Given the description of an element on the screen output the (x, y) to click on. 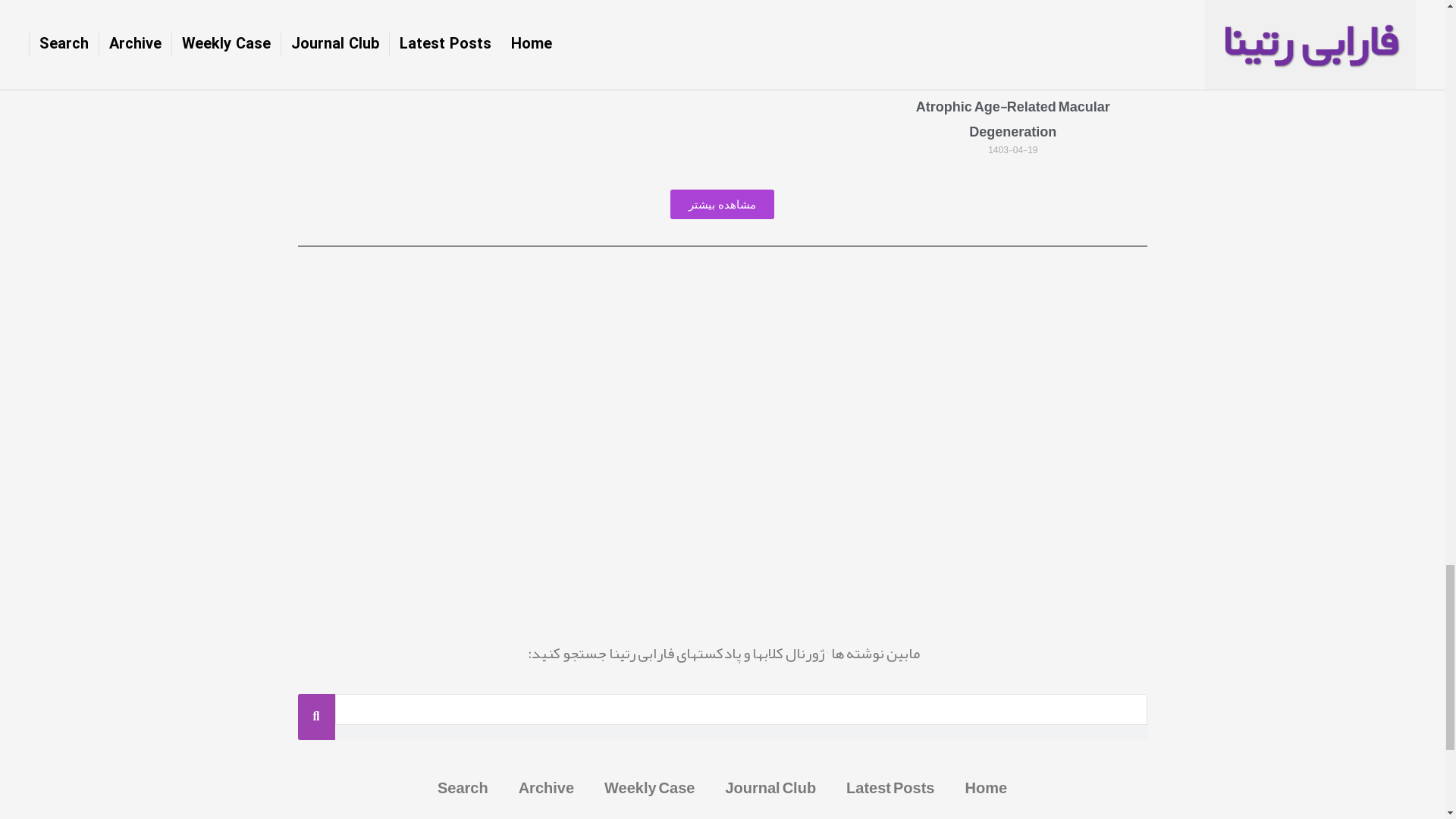
Journal Club 17-4-1403 (721, 56)
Vitreomacular Interface Disorders (431, 56)
Home (985, 787)
Archive (546, 787)
Latest Posts (890, 787)
Weekly Case (649, 787)
Search (462, 787)
Journal Club (770, 787)
